Given the description of an element on the screen output the (x, y) to click on. 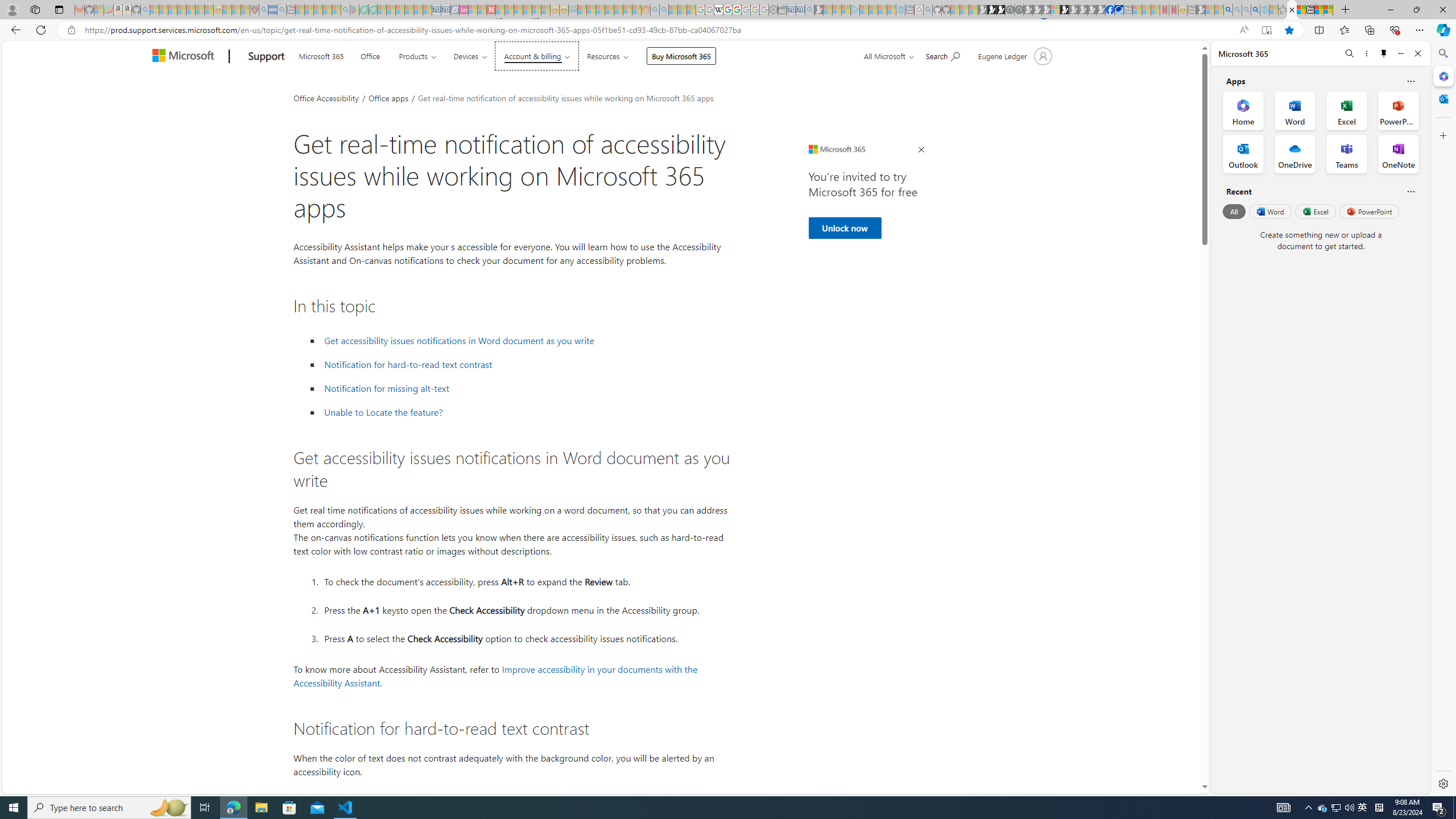
MSNBC - MSN - Sleeping (581, 9)
Robert H. Shmerling, MD - Harvard Health - Sleeping (253, 9)
Pets - MSN - Sleeping (326, 9)
Search for help (942, 54)
OneDrive Office App (1295, 154)
Microsoft-Report a Concern to Bing - Sleeping (98, 9)
Enter Immersive Reader (F9) (1266, 29)
Microsoft account | Privacy (1328, 9)
Microsoft Start Gaming - Sleeping (818, 9)
